Given the description of an element on the screen output the (x, y) to click on. 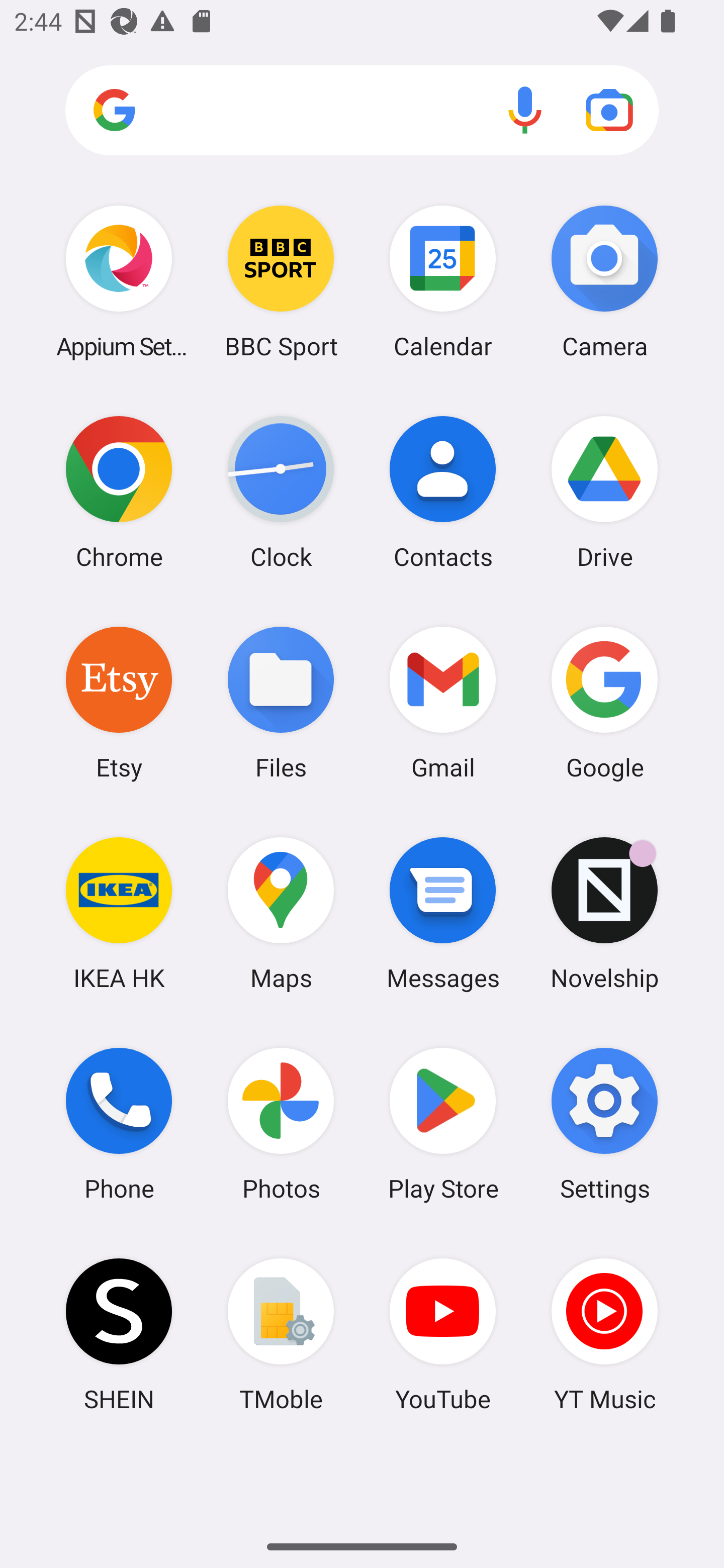
Search apps, web and more (361, 110)
Voice search (524, 109)
Google Lens (608, 109)
Appium Settings (118, 281)
BBC Sport (280, 281)
Calendar (443, 281)
Camera (604, 281)
Chrome (118, 492)
Clock (280, 492)
Contacts (443, 492)
Drive (604, 492)
Etsy (118, 702)
Files (280, 702)
Gmail (443, 702)
Google (604, 702)
IKEA HK (118, 913)
Maps (280, 913)
Messages (443, 913)
Novelship Novelship has 11 notifications (604, 913)
Phone (118, 1124)
Photos (280, 1124)
Play Store (443, 1124)
Settings (604, 1124)
SHEIN (118, 1334)
TMoble (280, 1334)
YouTube (443, 1334)
YT Music (604, 1334)
